Given the description of an element on the screen output the (x, y) to click on. 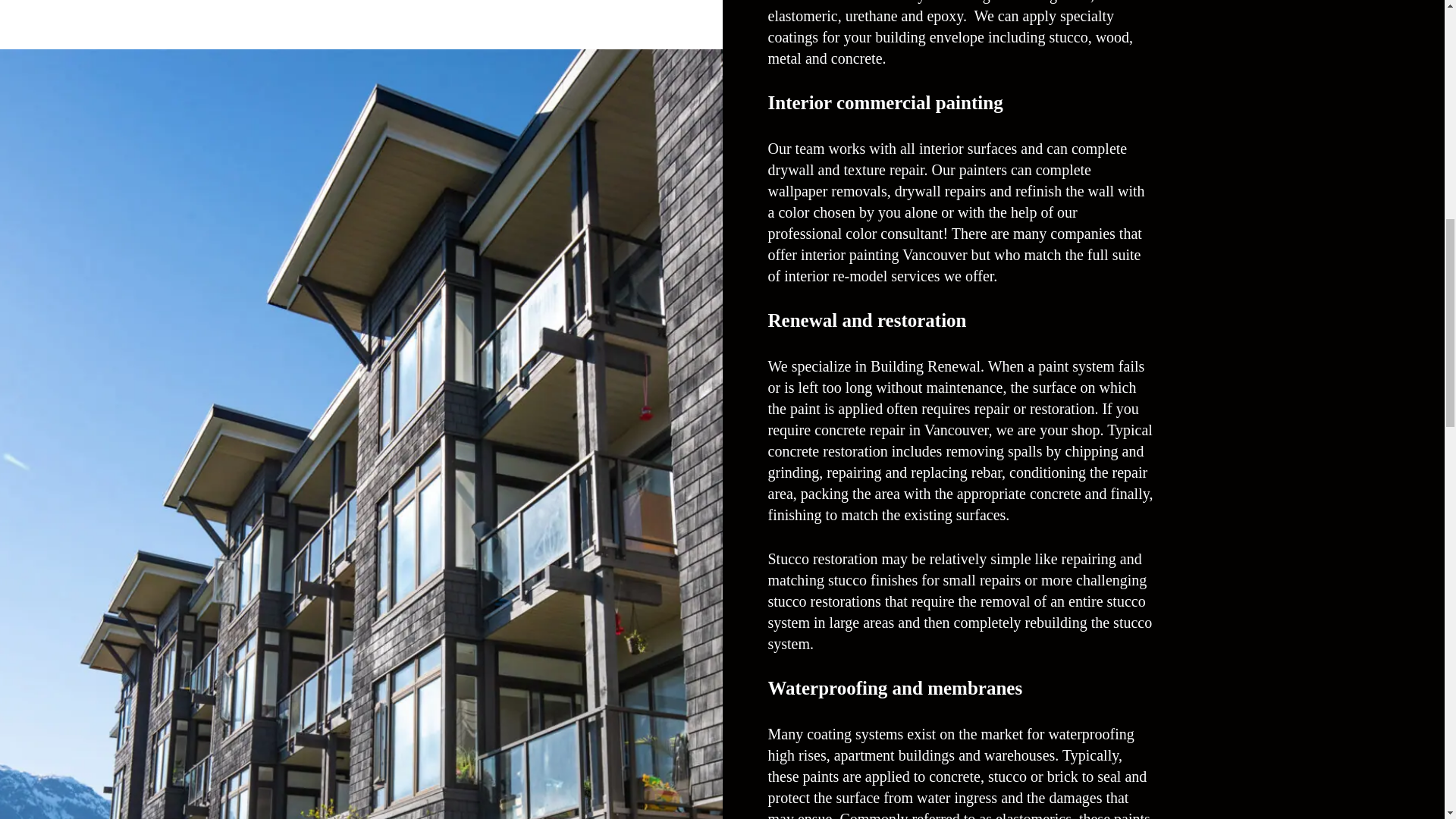
Waterproofing and membranes (894, 689)
Renewal and Restoration (866, 320)
Interior commercial painting (885, 103)
Renewal and restoration (866, 320)
Interior commercial painting (885, 103)
Waterproofing and Membranes (894, 689)
